Given the description of an element on the screen output the (x, y) to click on. 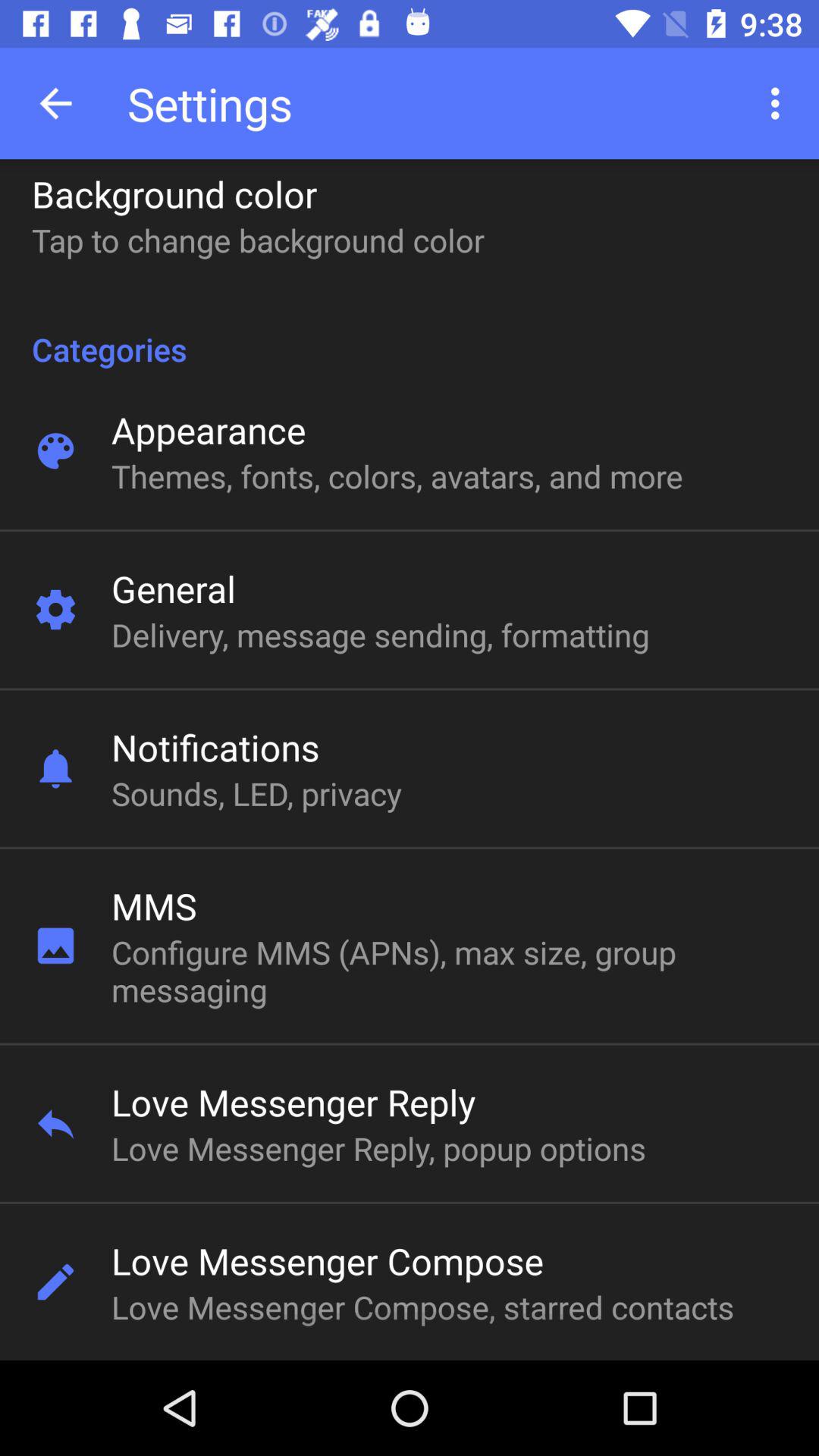
choose the icon below appearance (397, 475)
